Given the description of an element on the screen output the (x, y) to click on. 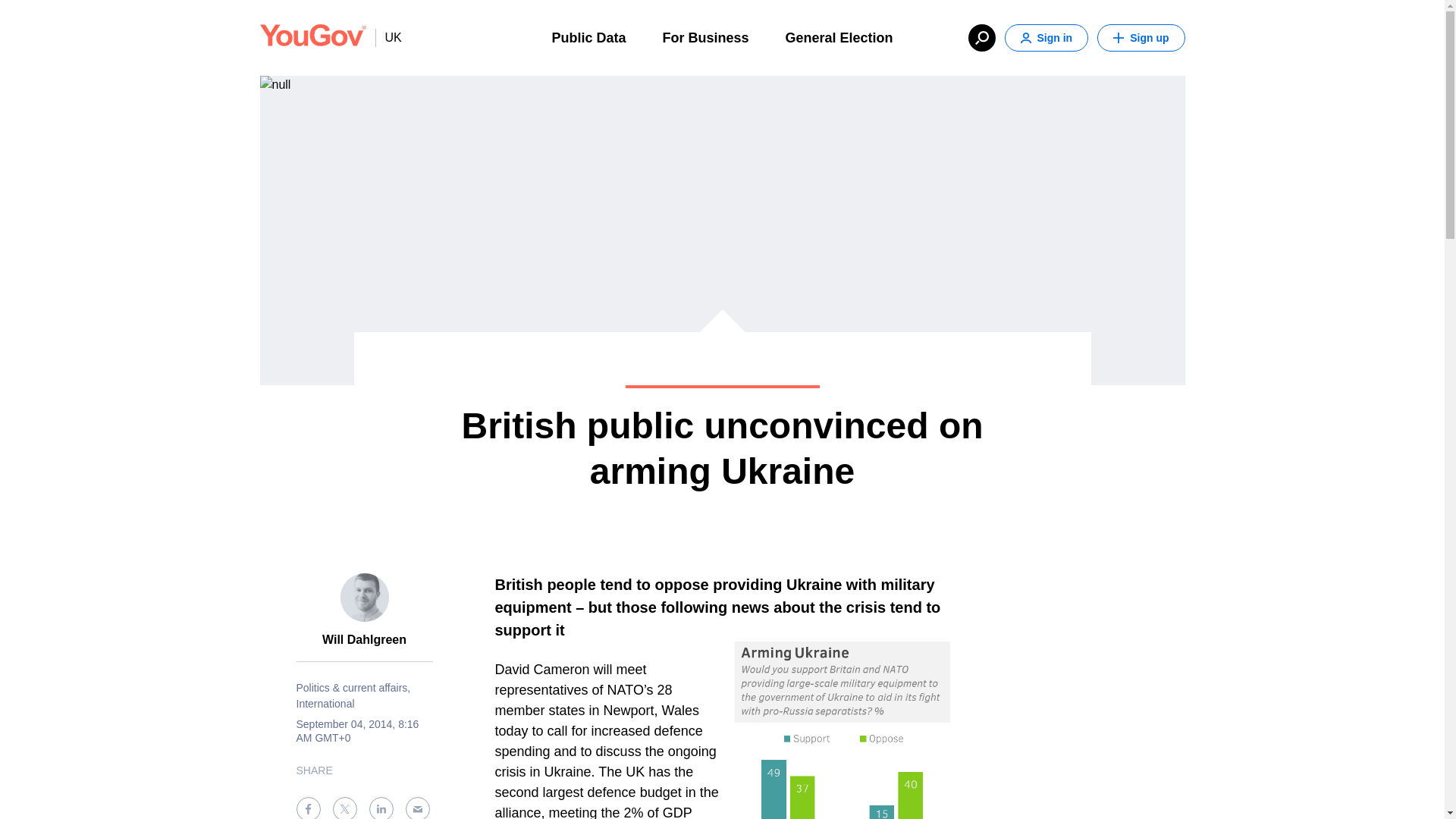
Sign up (1141, 37)
UK (387, 37)
Sign in (1045, 37)
General Election (839, 37)
Public Data (588, 37)
For Business (705, 37)
